Given the description of an element on the screen output the (x, y) to click on. 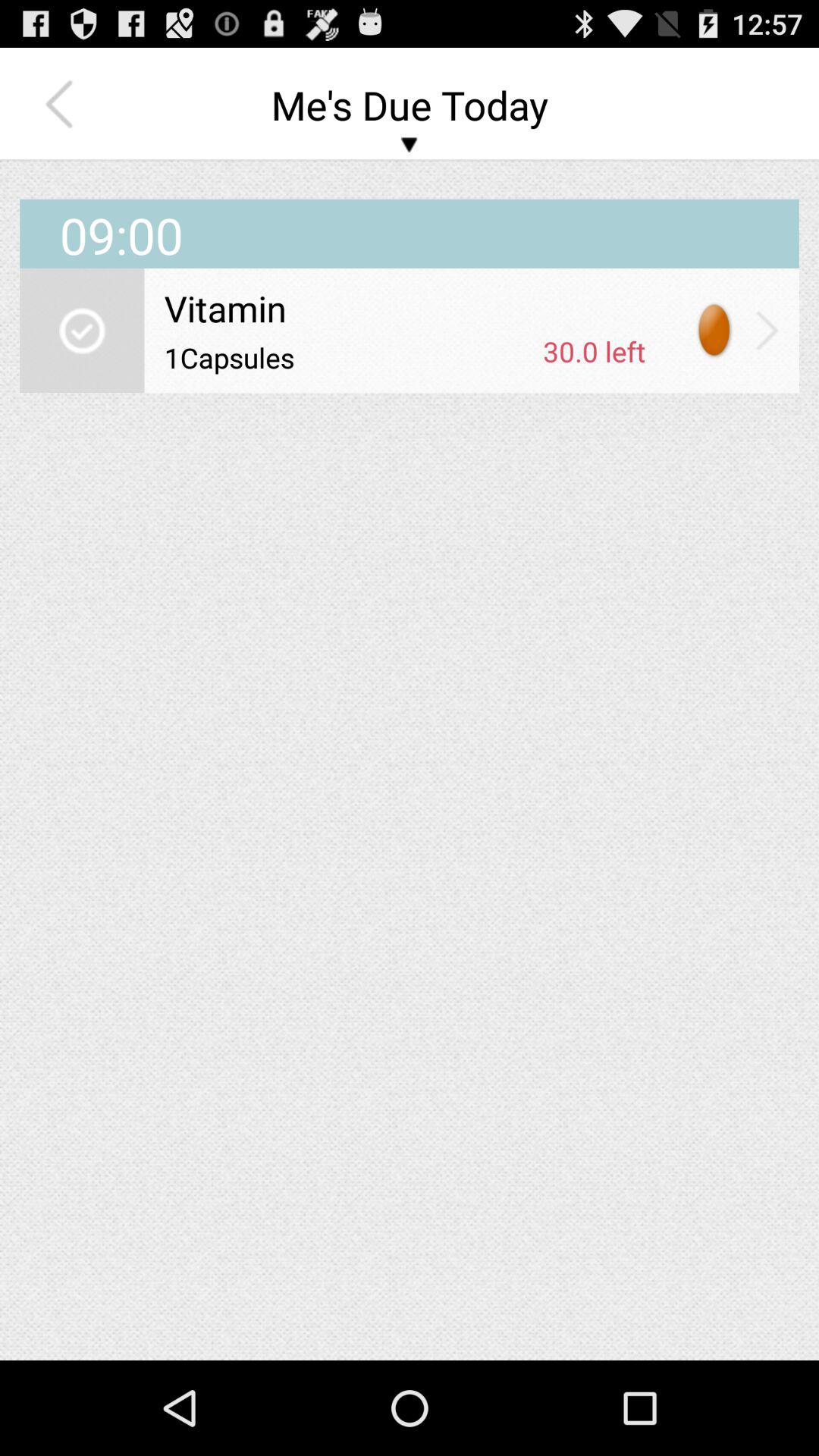
turn off the icon below the vitamin (348, 357)
